Given the description of an element on the screen output the (x, y) to click on. 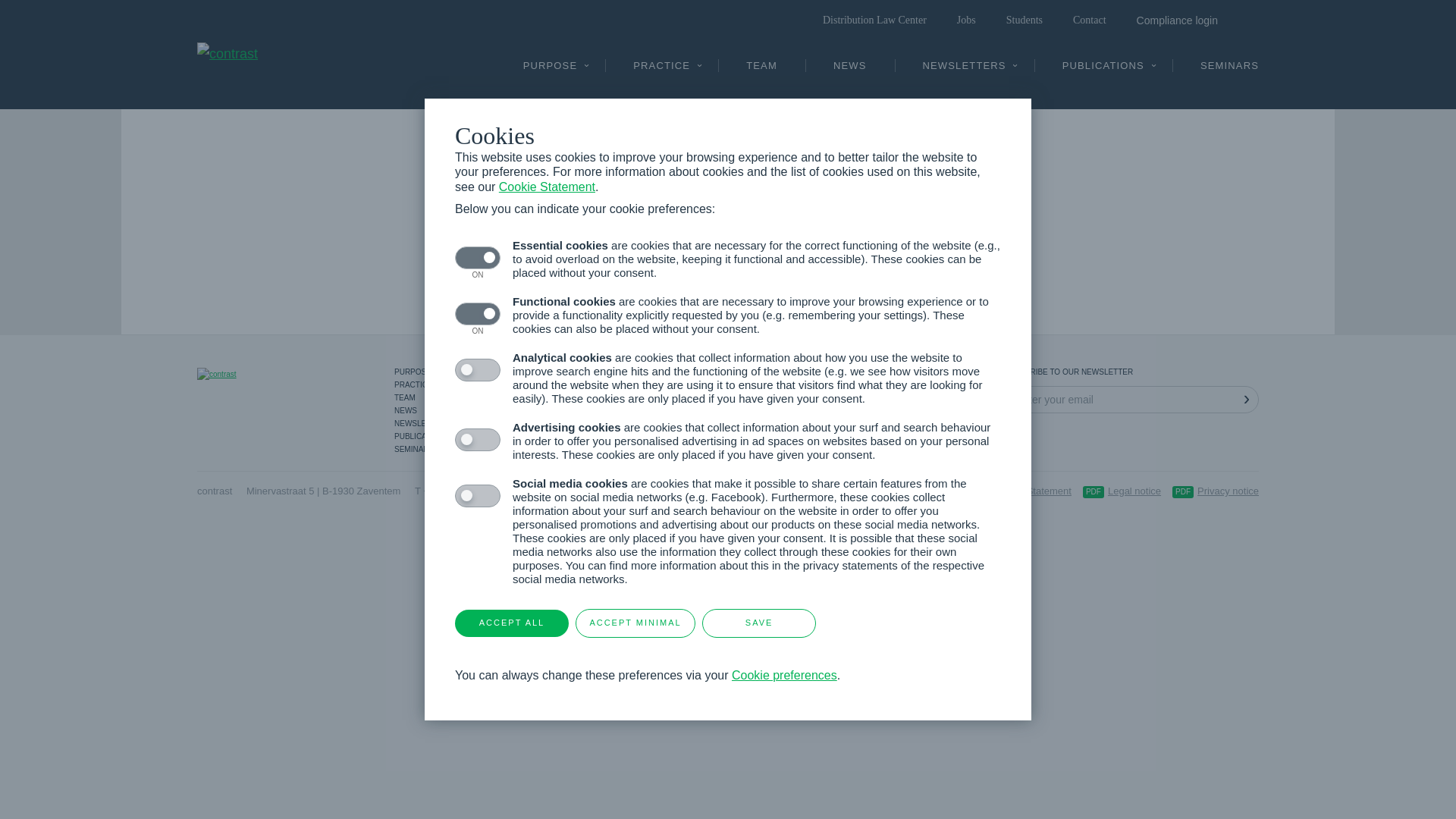
PRACTICE Element type: text (661, 69)
SEMINARS Element type: text (454, 448)
PRACTICE Element type: text (454, 384)
Cookie preferences Element type: text (784, 674)
Students Element type: text (1024, 20)
+32 (0)2 275 00 75 Element type: text (464, 490)
SEMINARS Element type: text (1229, 69)
DISTRIBUTION LAW CENTER Element type: text (576, 410)
Legal notice Element type: text (1120, 491)
TEAM Element type: text (761, 69)
CONTACT Element type: text (576, 371)
NEWS Element type: text (849, 69)
Cookie Statement Element type: text (1032, 491)
Jobs Element type: text (966, 20)
TEAM Element type: text (454, 397)
PUBLICATIONS Element type: text (454, 435)
Cookie Statement Element type: text (546, 186)
Privacy notice Element type: text (1213, 491)
NEWS Element type: text (454, 410)
Contact Element type: text (1089, 20)
PURPOSE Element type: text (550, 69)
PUBLICATIONS Element type: text (1103, 69)
Compliance login Element type: text (1176, 20)
PURPOSE Element type: text (454, 371)
NEWSLETTERS Element type: text (964, 69)
JOBS Element type: text (576, 397)
SAVE Element type: text (758, 622)
STUDENTS Element type: text (576, 384)
ACCEPT ALL Element type: text (511, 623)
NEWSLETTERS Element type: text (454, 423)
Distribution Law Center Element type: text (874, 20)
ACCEPT MINIMAL Element type: text (635, 622)
